Given the description of an element on the screen output the (x, y) to click on. 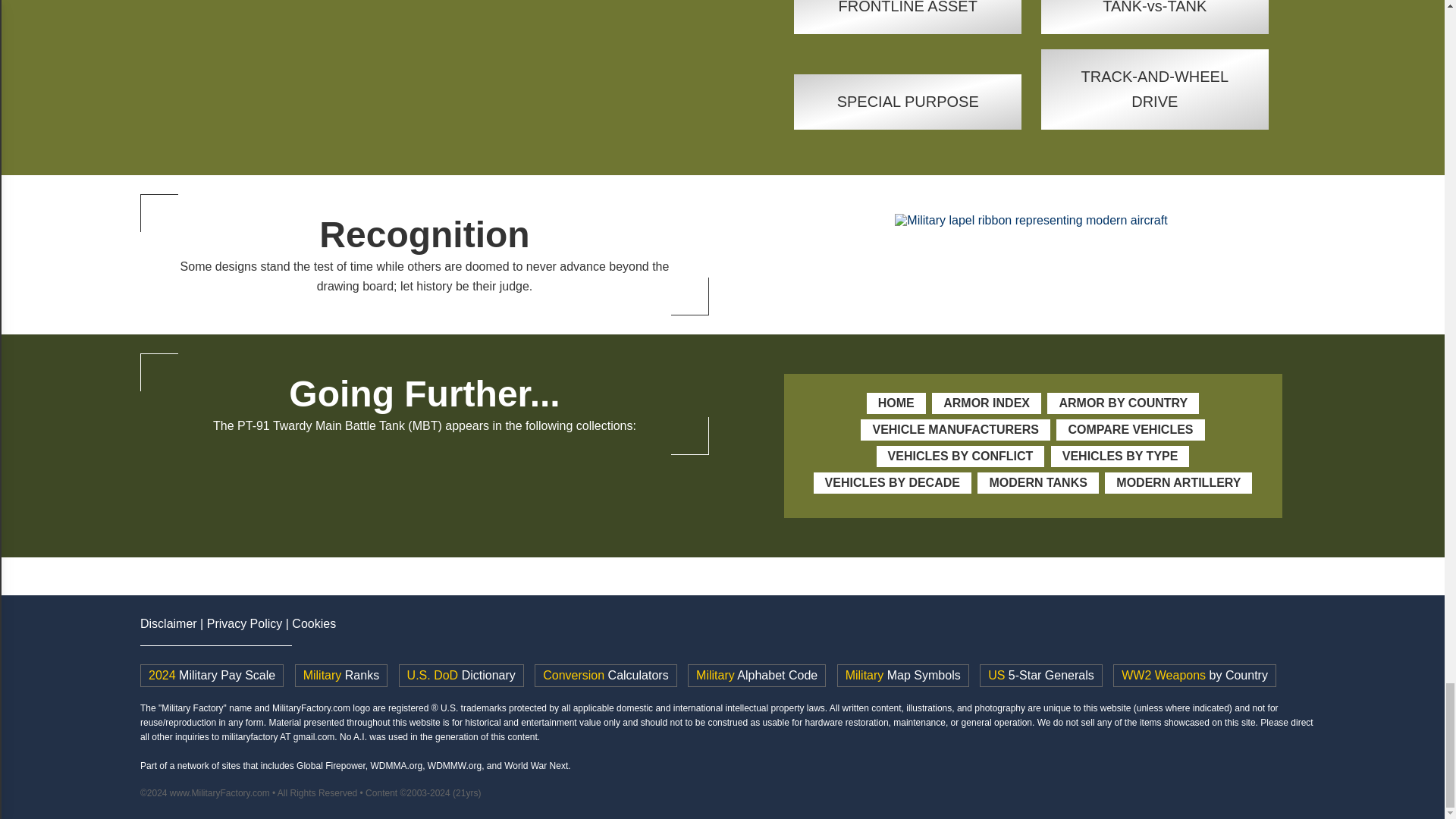
HOME (895, 402)
VEHICLE MANUFACTURERS (955, 429)
Privacy Policy (244, 623)
Disclaimer (167, 623)
COMPARE VEHICLES (1129, 429)
VEHICLES BY TYPE (1120, 455)
VEHICLES BY CONFLICT (960, 455)
ARMOR INDEX (986, 402)
ARMOR BY COUNTRY (1122, 402)
VEHICLES BY DECADE (892, 481)
MODERN ARTILLERY (1178, 481)
MODERN TANKS (1037, 481)
